Given the description of an element on the screen output the (x, y) to click on. 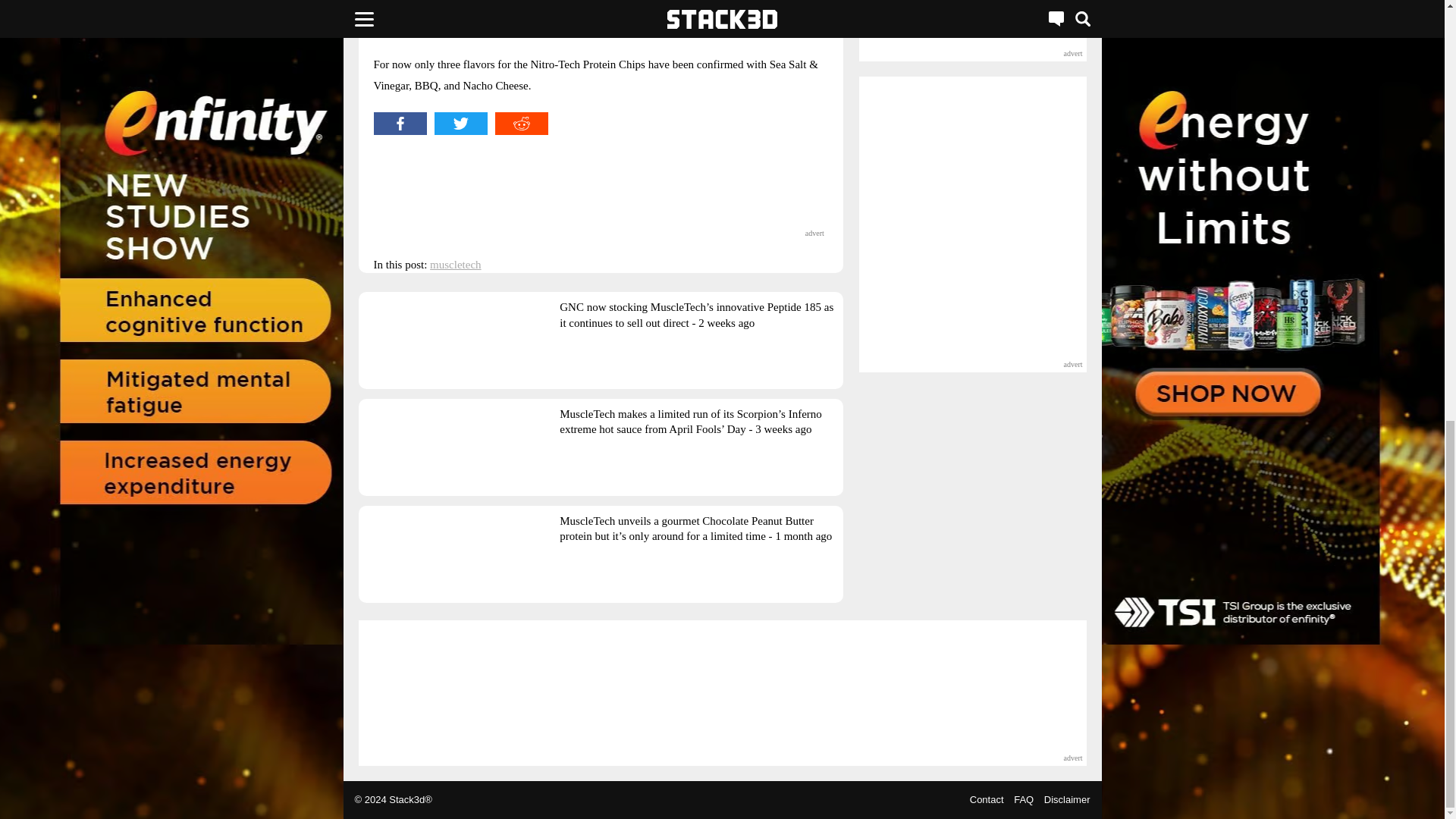
muscletech (454, 264)
